Given the description of an element on the screen output the (x, y) to click on. 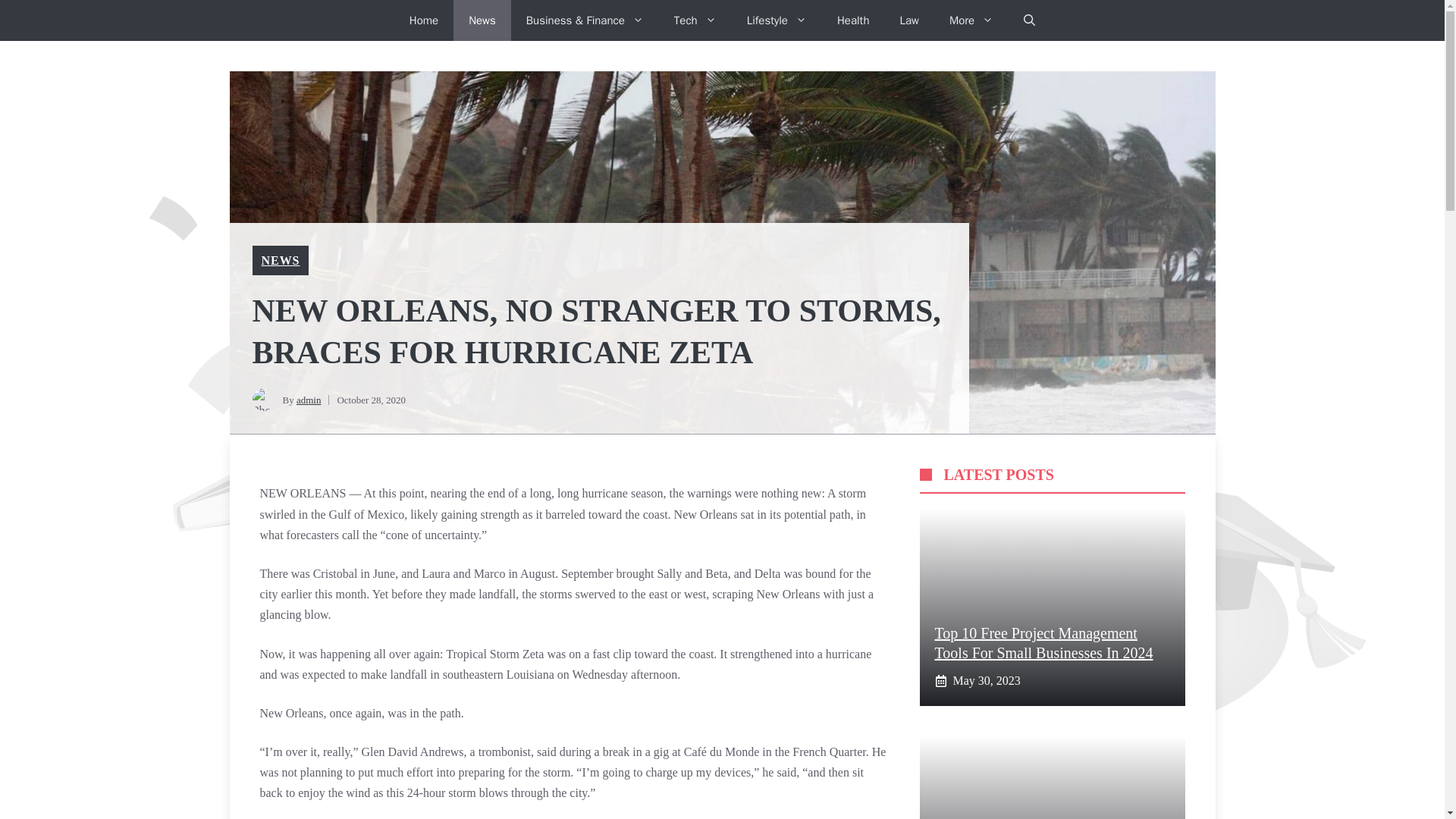
Tech (695, 20)
Lifestyle (777, 20)
Home (423, 20)
News (481, 20)
